Given the description of an element on the screen output the (x, y) to click on. 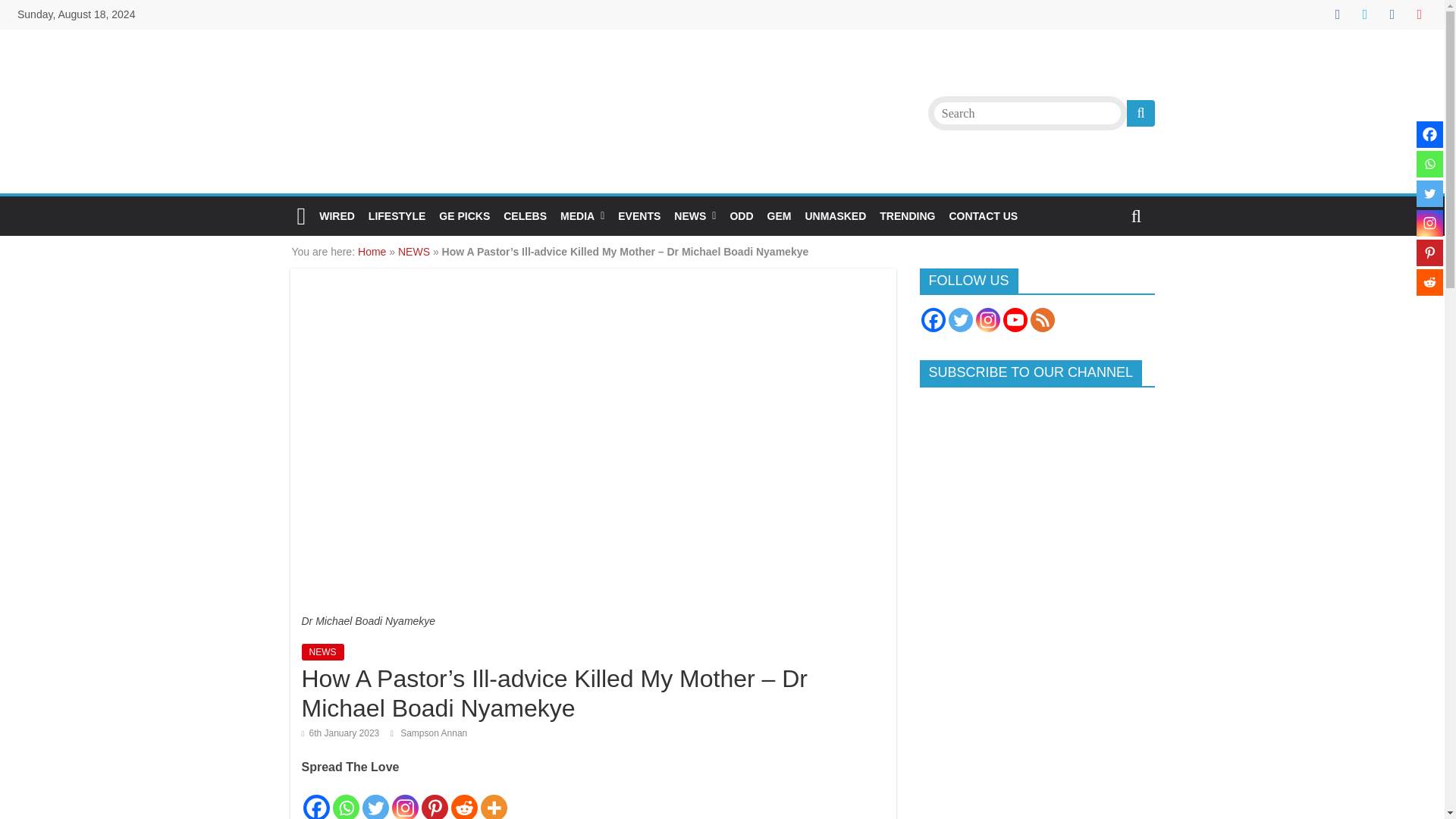
LIFESTYLE (396, 216)
ODD (741, 216)
MEDIA (582, 216)
NEWS (322, 651)
UNMASKED (834, 216)
GE PICKS (464, 216)
Instagram (1429, 222)
TRENDING (907, 216)
NEWS (694, 216)
Twitter (1429, 193)
